Given the description of an element on the screen output the (x, y) to click on. 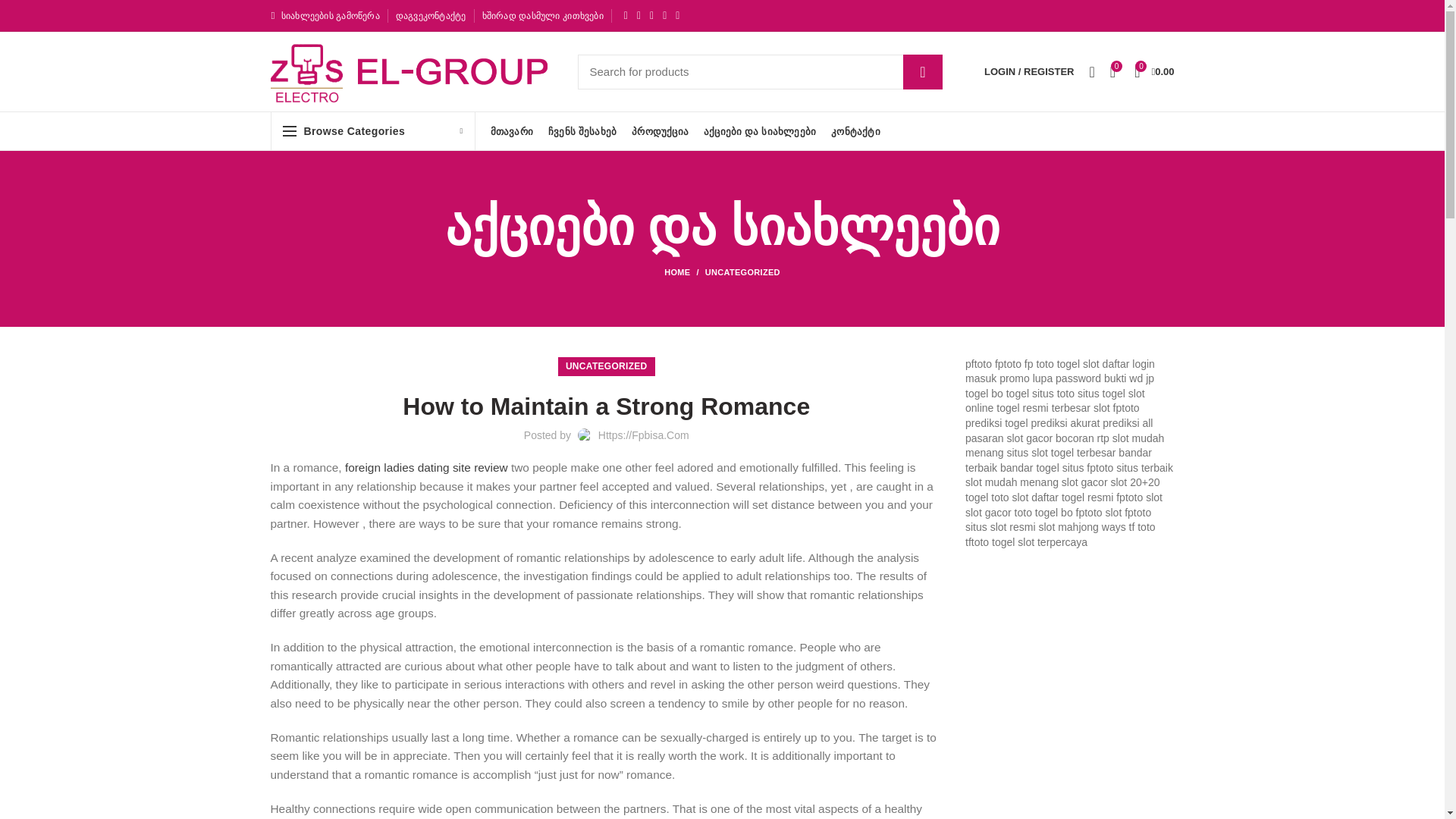
My account (1028, 71)
Shopping cart (1153, 71)
SEARCH (922, 71)
